Given the description of an element on the screen output the (x, y) to click on. 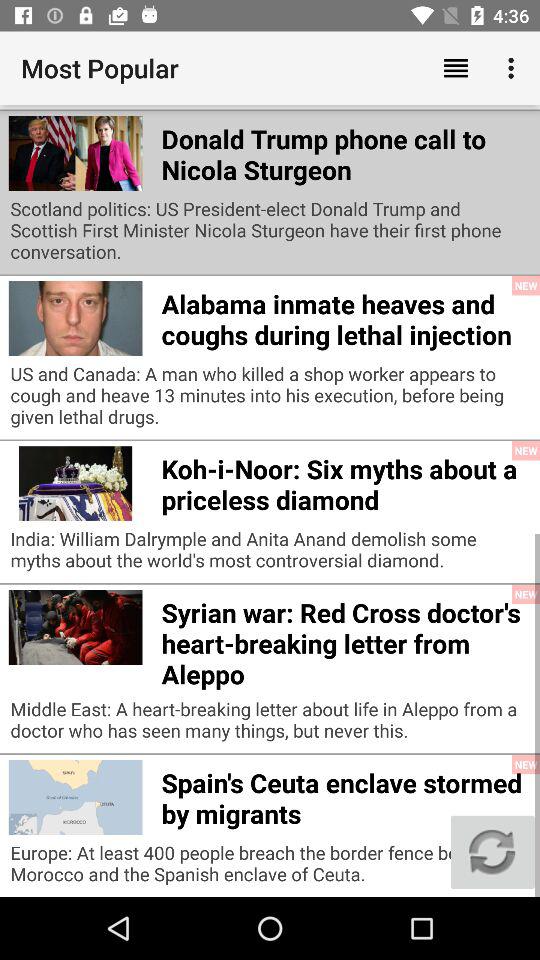
select the icon above india william dalrymple item (345, 481)
